Given the description of an element on the screen output the (x, y) to click on. 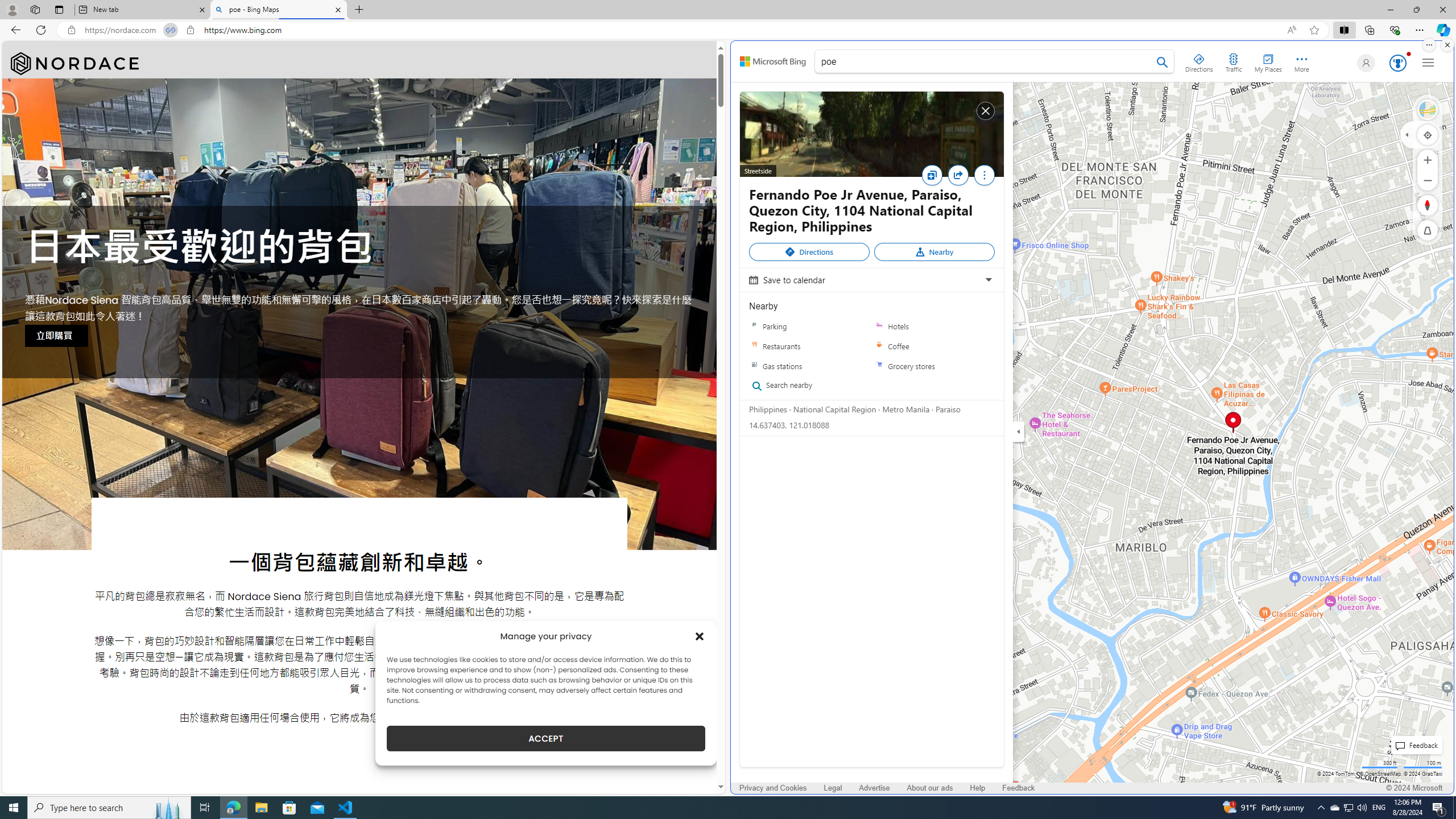
AutomationID: rh_meter (1397, 62)
Search nearby (804, 385)
Zoom Out (1427, 180)
More (984, 174)
Close split screen. (1447, 45)
Bird's eye (1427, 109)
Privacy and Cookies (772, 787)
Advertise (874, 787)
Hotels (933, 326)
Search Bing Maps (1162, 61)
Select Style (1427, 109)
